Given the description of an element on the screen output the (x, y) to click on. 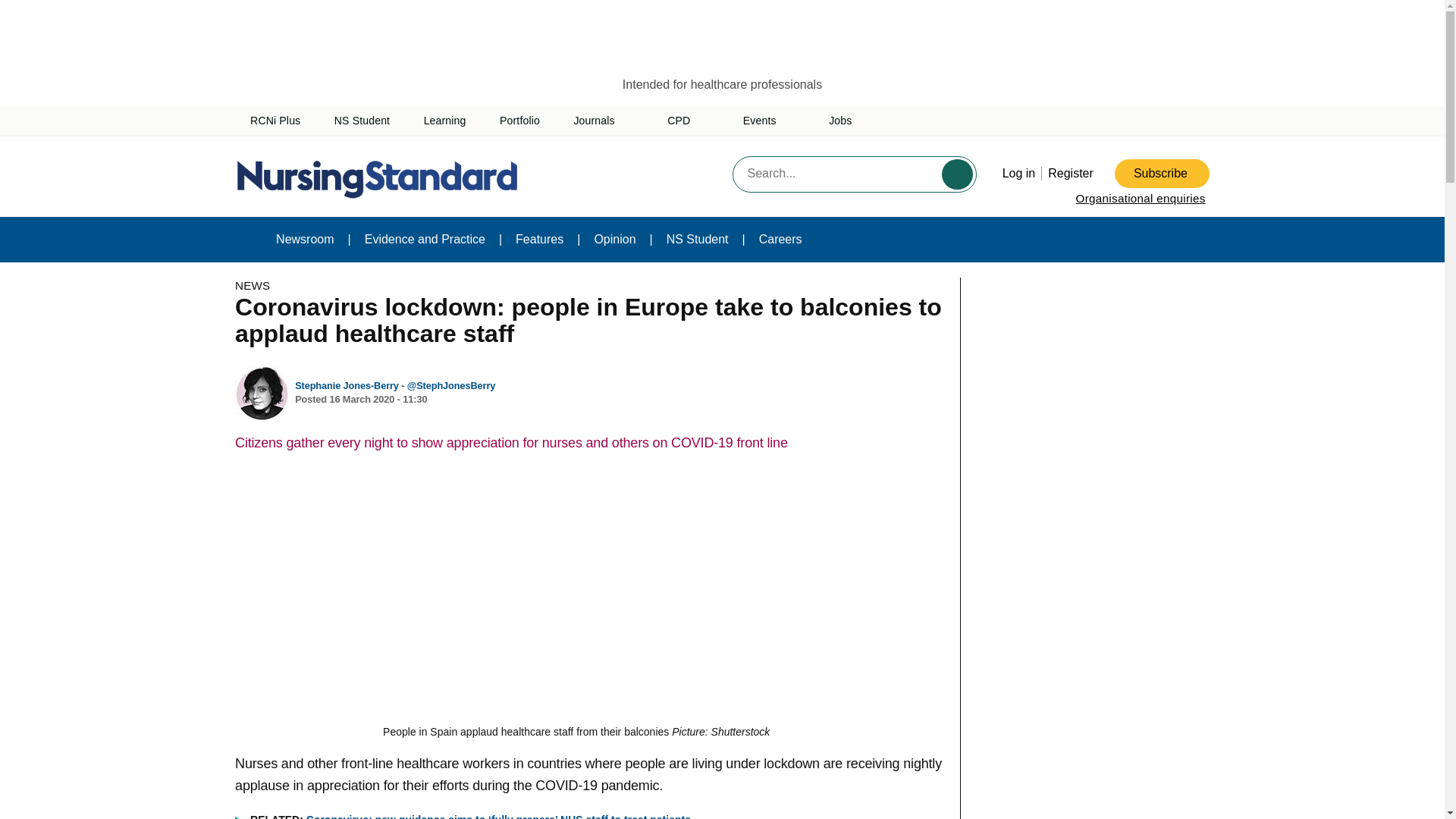
Events (768, 120)
Learning (444, 120)
NS Student (362, 120)
Go (957, 173)
Journals (603, 120)
Portfolio (519, 120)
Nursing Standard (380, 177)
Jobs (839, 120)
Author image (261, 392)
RCNi Plus (274, 120)
Stephanie (348, 385)
CPD (687, 120)
